Given the description of an element on the screen output the (x, y) to click on. 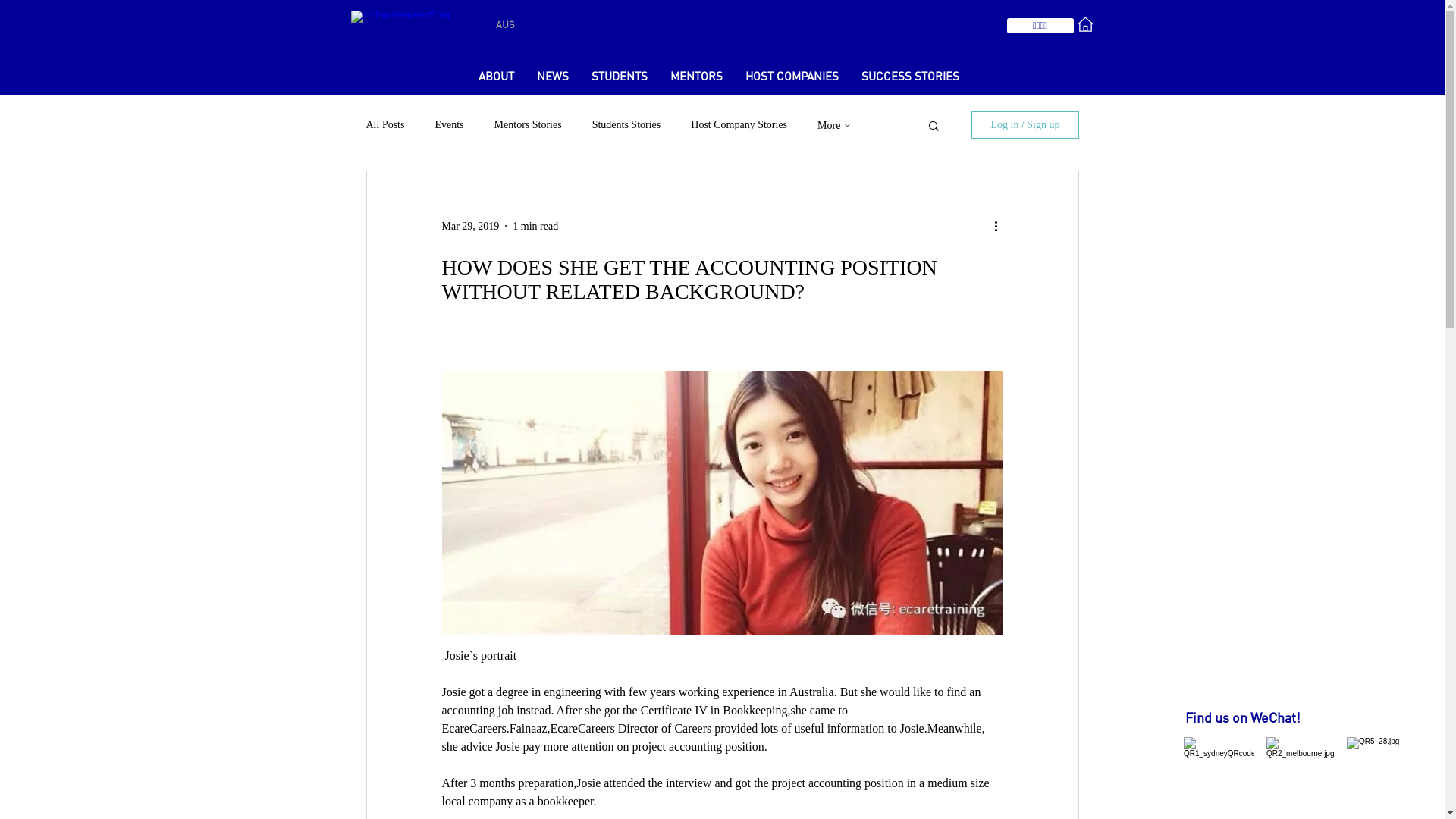
HOST COMPANIES Element type: text (792, 77)
Events Element type: text (448, 125)
Log in / Sign up Element type: text (1024, 124)
SUCCESS STORIES Element type: text (909, 77)
NEWS Element type: text (551, 77)
ABOUT Element type: text (496, 77)
STUDENTS Element type: text (618, 77)
Mentors Stories Element type: text (527, 125)
All Posts Element type: text (384, 125)
Students Stories Element type: text (626, 125)
Host Company Stories Element type: text (738, 125)
MENTORS Element type: text (695, 77)
